Given the description of an element on the screen output the (x, y) to click on. 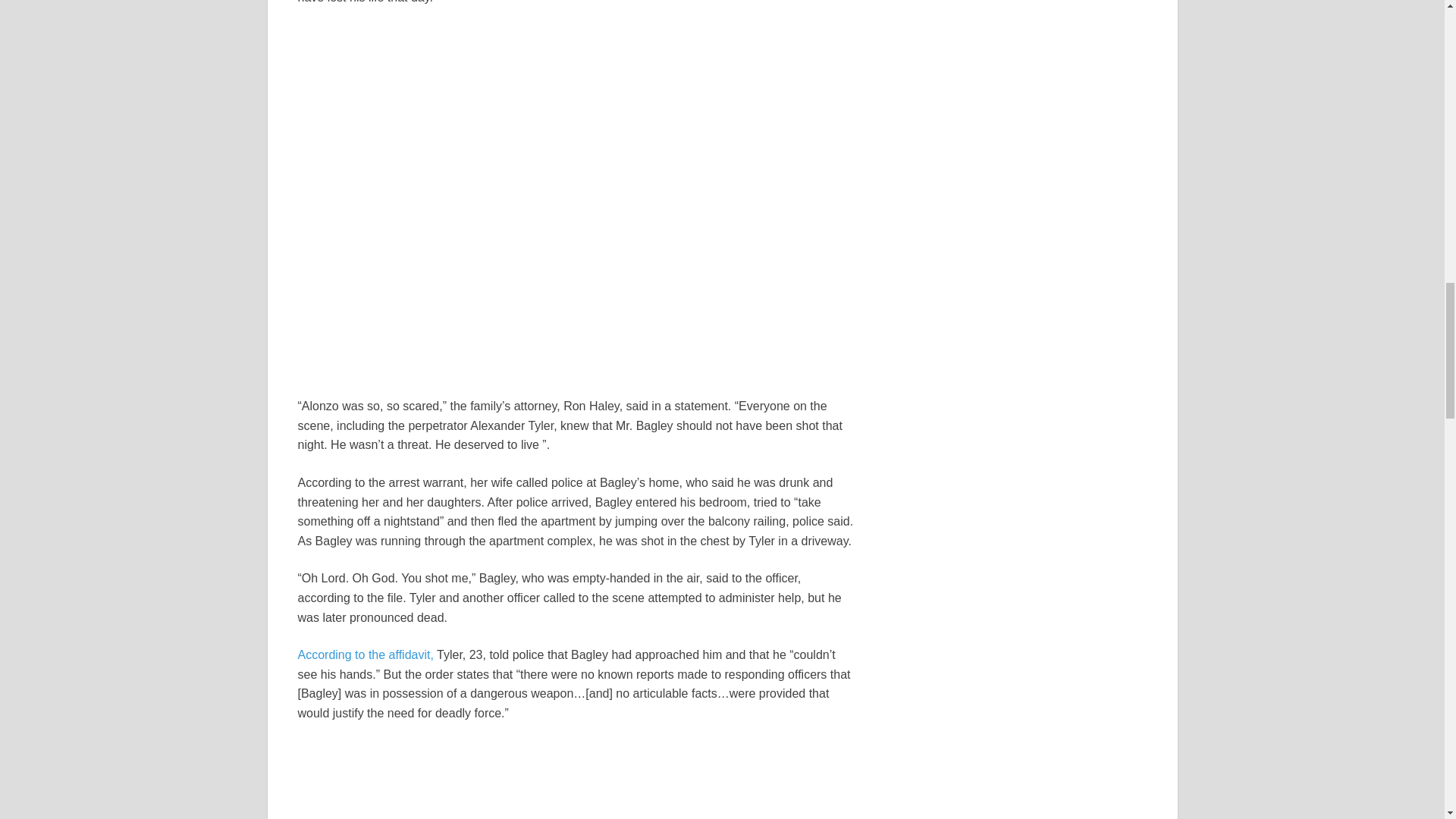
According to the affidavit, (364, 654)
